Given the description of an element on the screen output the (x, y) to click on. 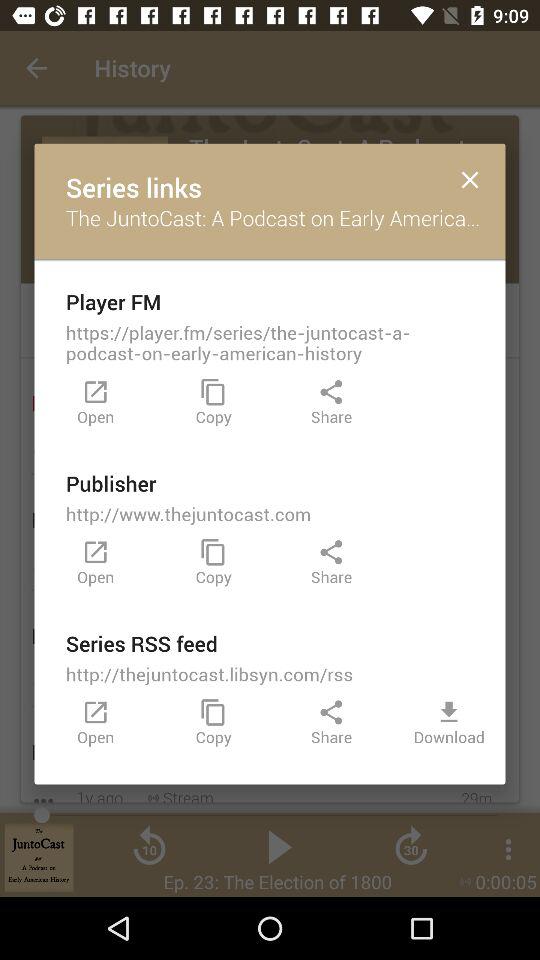
tap icon to the right of the series links (469, 178)
